Given the description of an element on the screen output the (x, y) to click on. 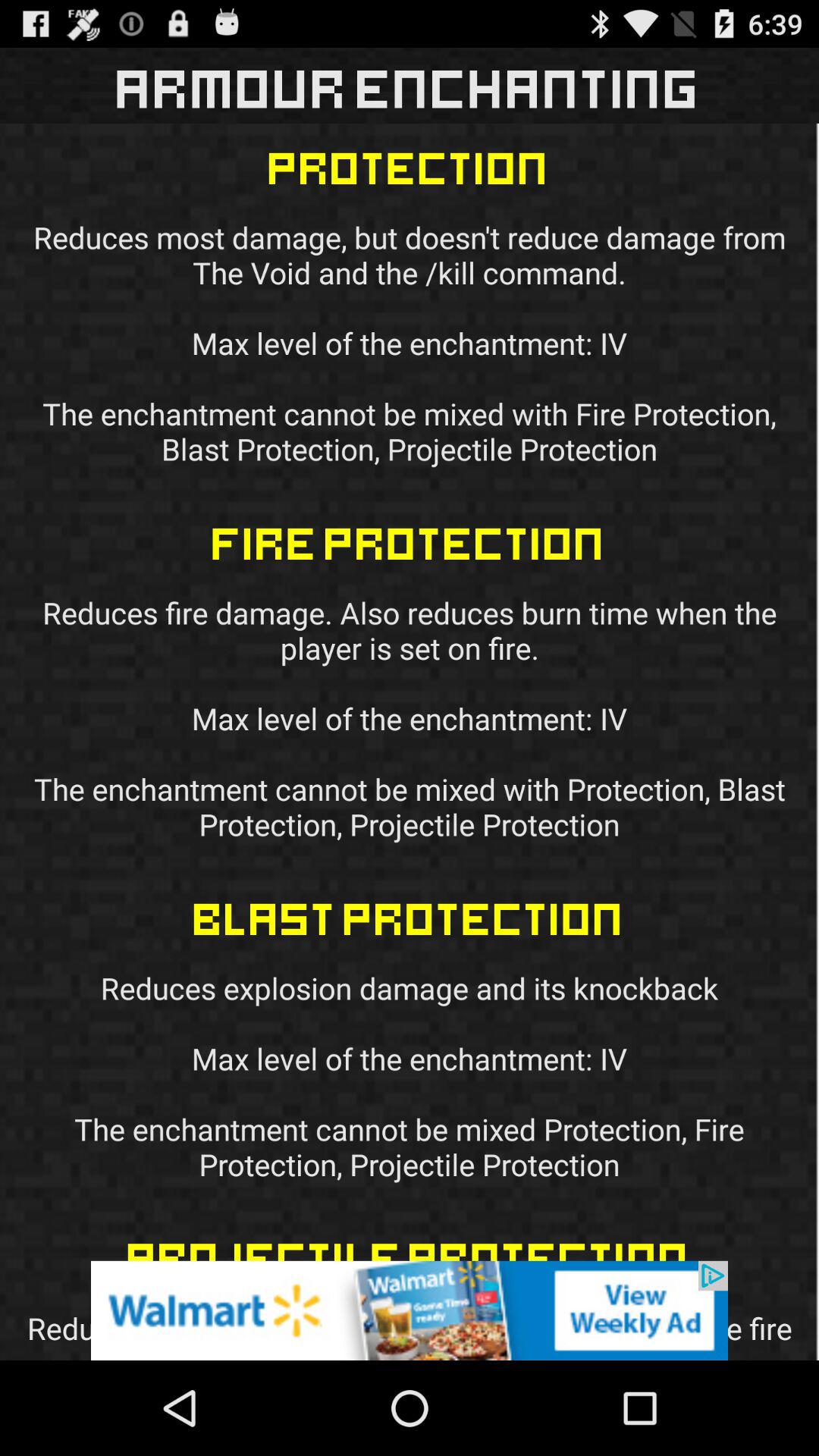
go to walmart (409, 1310)
